Given the description of an element on the screen output the (x, y) to click on. 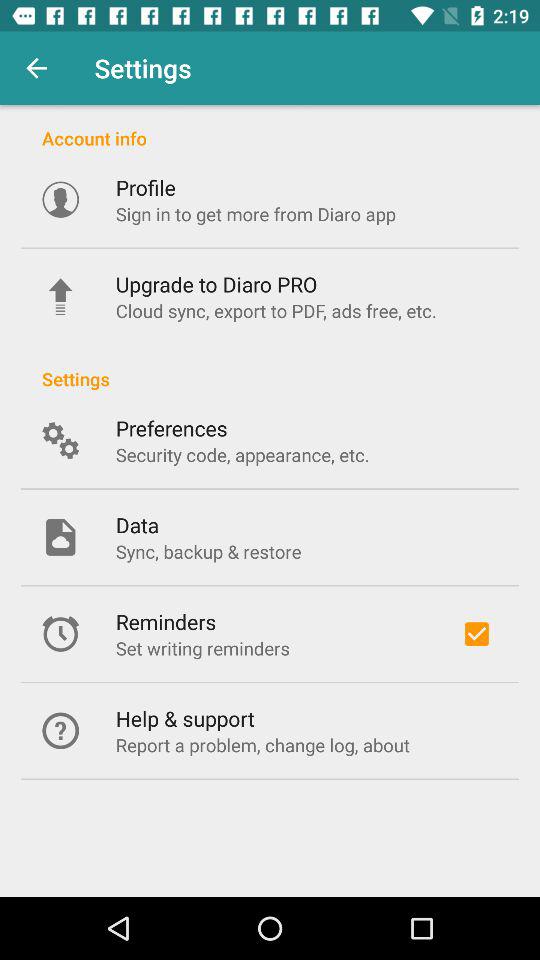
launch the item above the data icon (242, 454)
